Given the description of an element on the screen output the (x, y) to click on. 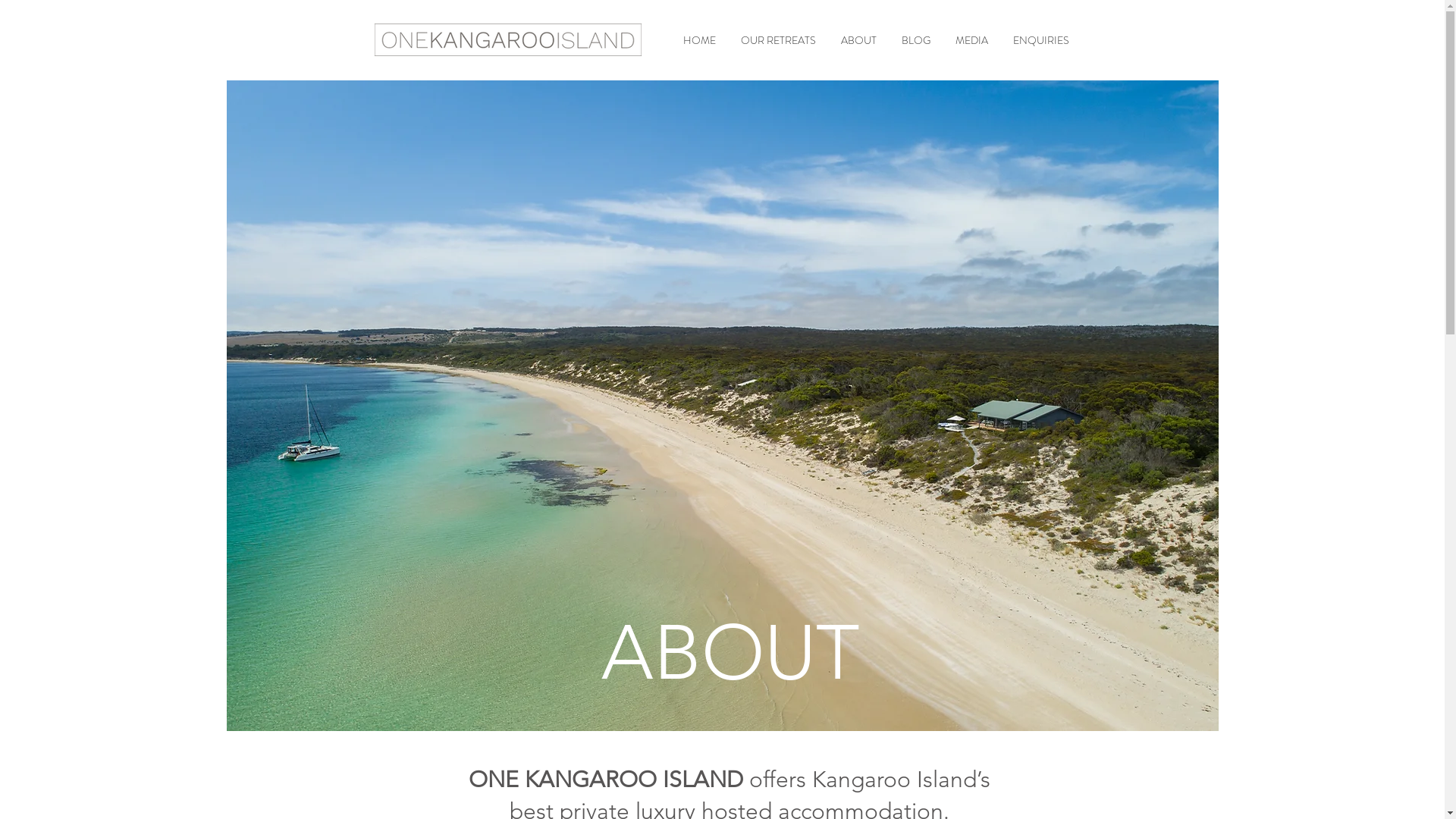
BLOG Element type: text (915, 39)
ENQUIRIES Element type: text (1041, 39)
HOME Element type: text (699, 39)
MEDIA Element type: text (972, 39)
OKI-logo-long-brown-1024x125.png Element type: hover (507, 39)
